Given the description of an element on the screen output the (x, y) to click on. 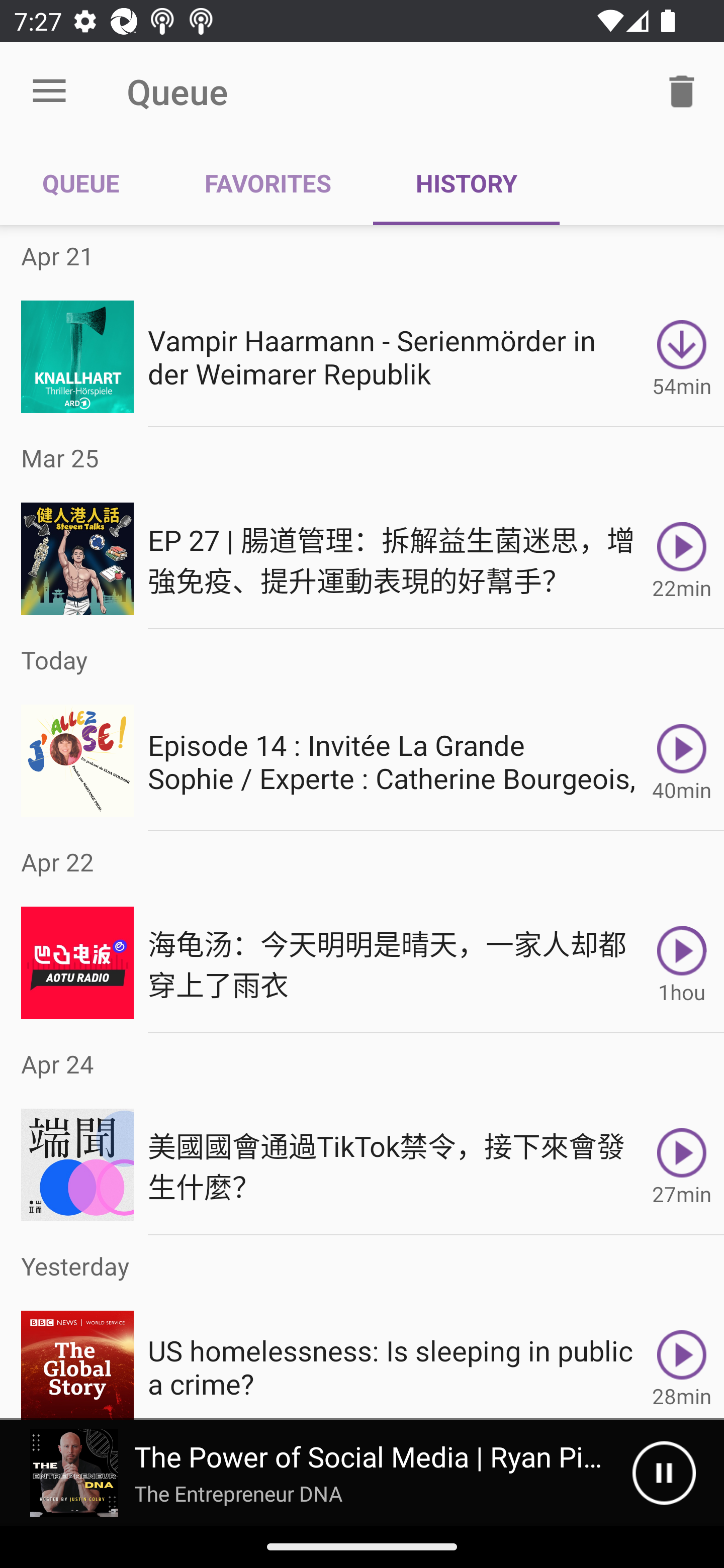
Open menu (49, 91)
Clear History (681, 90)
QUEUE (81, 183)
FAVORITES (267, 183)
HISTORY (465, 183)
Download 54min (681, 356)
Play 22min (681, 558)
Play 40min (681, 760)
Apr 22 海龟汤：今天明明是晴天，一家人却都穿上了雨衣 Play 1hou (362, 932)
Play 1hou (681, 962)
Apr 24 美國國會通過TikTok禁令，接下來會發生什麼？ Play 27min (362, 1134)
Play 27min (681, 1164)
Play 28min (681, 1358)
Pause (663, 1472)
